Given the description of an element on the screen output the (x, y) to click on. 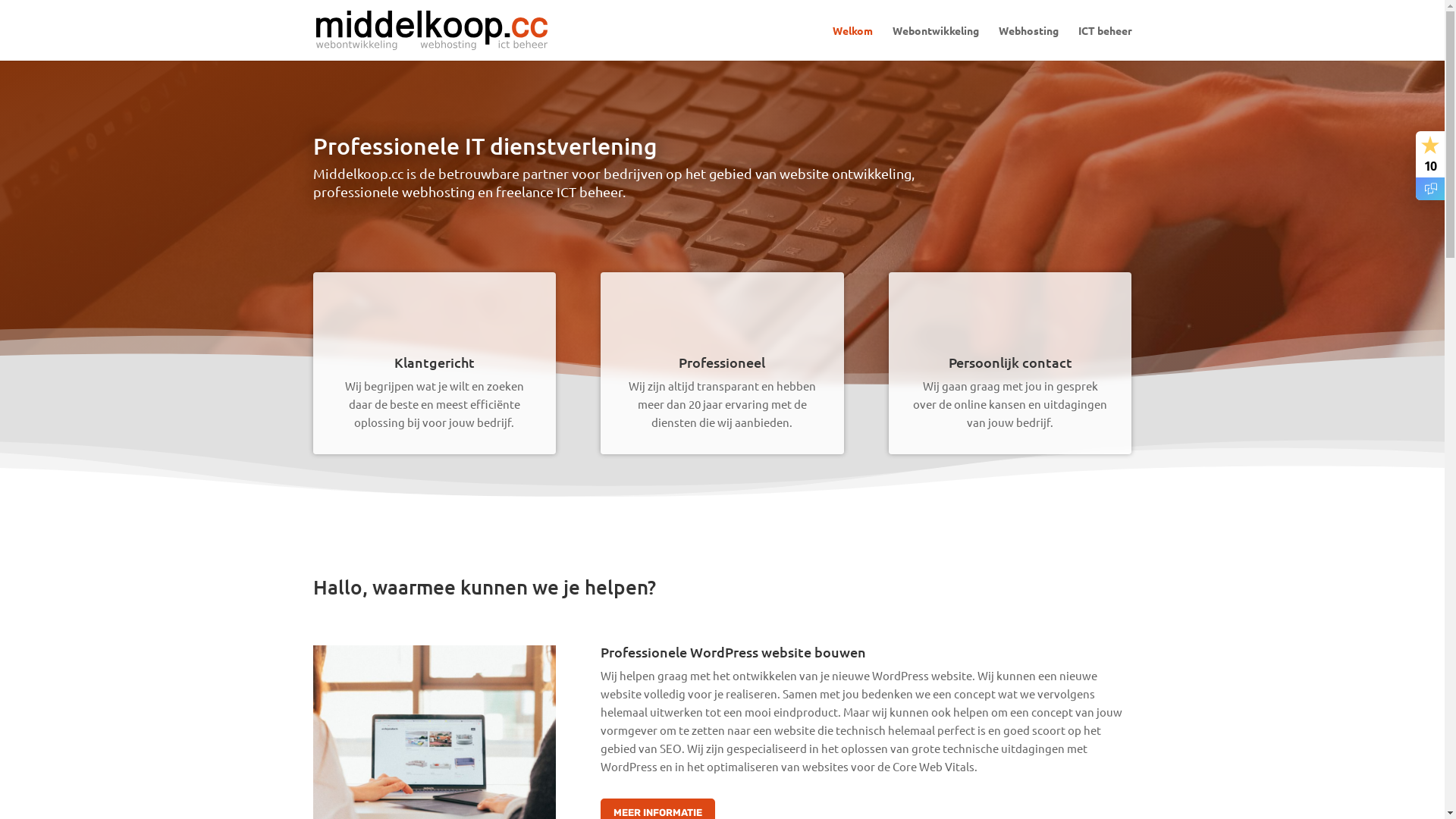
Webontwikkeling Element type: text (934, 42)
Webhosting Element type: text (1027, 42)
Welkom Element type: text (852, 42)
ICT beheer Element type: text (1105, 42)
10 Element type: text (1429, 165)
